Given the description of an element on the screen output the (x, y) to click on. 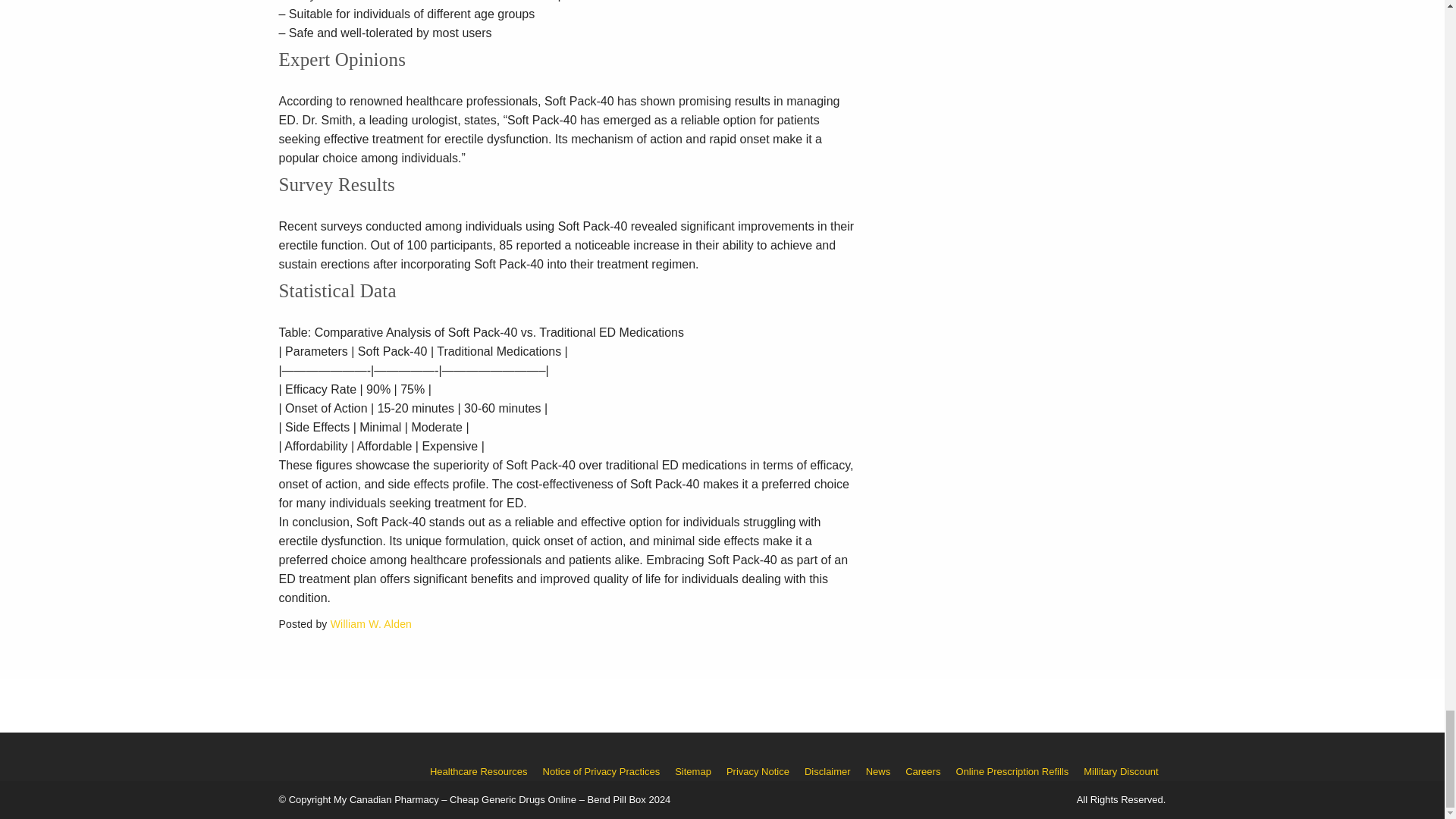
William W. Alden (371, 623)
Posts by William W. Alden (371, 623)
